Given the description of an element on the screen output the (x, y) to click on. 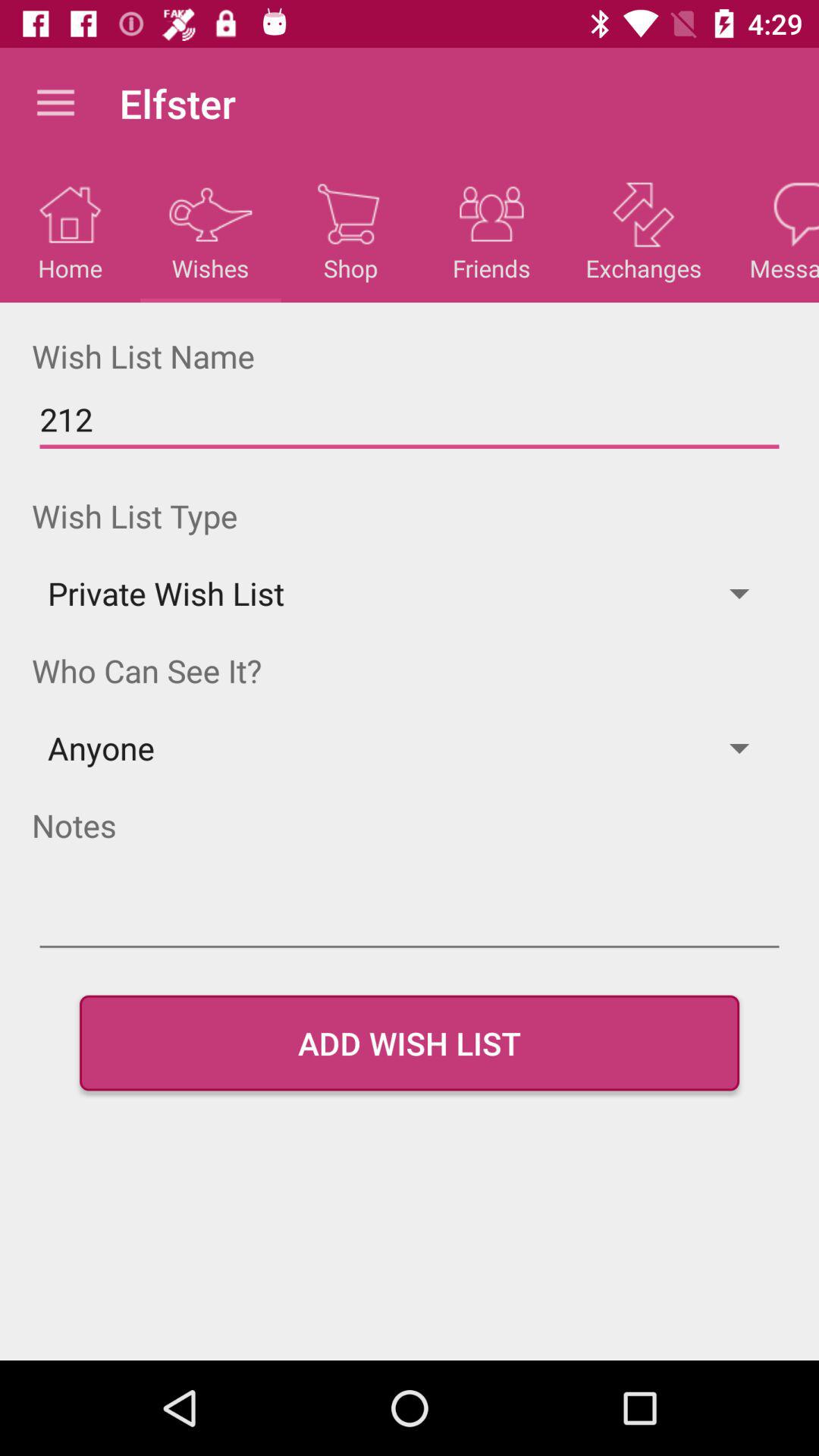
add notes (409, 920)
